Given the description of an element on the screen output the (x, y) to click on. 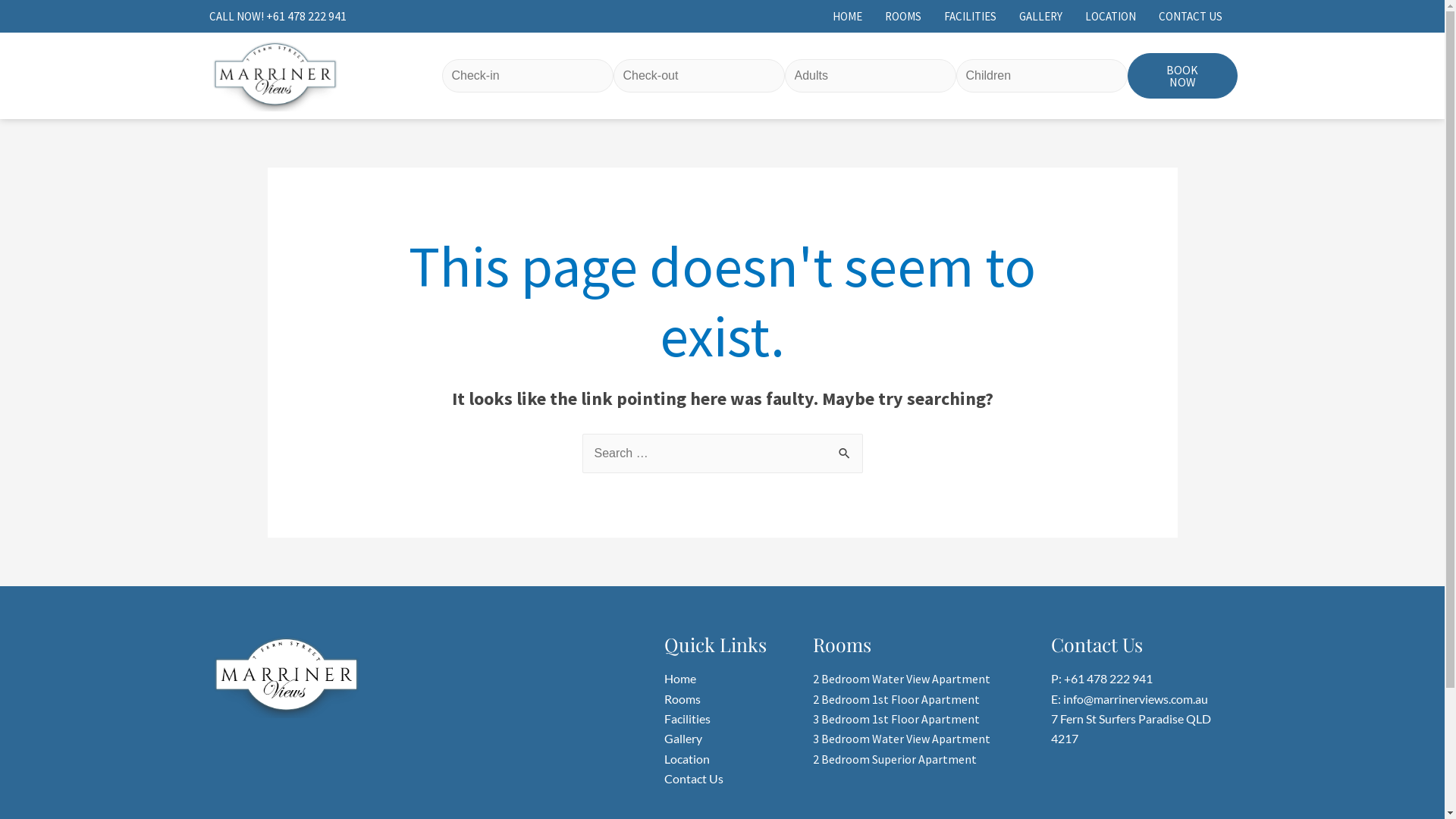
LOCATION Element type: text (1110, 16)
Gallery Element type: text (683, 738)
BOOK NOW Element type: text (1181, 75)
Search Element type: text (845, 449)
2 Bedroom Superior Apartment Element type: text (923, 758)
Contact Us Element type: text (693, 778)
GALLERY Element type: text (1040, 16)
CONTACT US Element type: text (1190, 16)
+61 478 222 941 Element type: text (306, 15)
2 Bedroom Water View Apartment Element type: text (923, 678)
HOME Element type: text (847, 16)
Rooms Element type: text (682, 698)
2 Bedroom 1st Floor Apartment Element type: text (923, 699)
Home Element type: text (680, 678)
info@marrinerviews.com.au Element type: text (1135, 698)
ROOMS Element type: text (902, 16)
Facilities Element type: text (687, 718)
3 Bedroom Water View Apartment Element type: text (923, 738)
+61 478 222 941 Element type: text (1107, 678)
FACILITIES Element type: text (969, 16)
Location Element type: text (686, 758)
3 Bedroom 1st Floor Apartment Element type: text (923, 718)
